Given the description of an element on the screen output the (x, y) to click on. 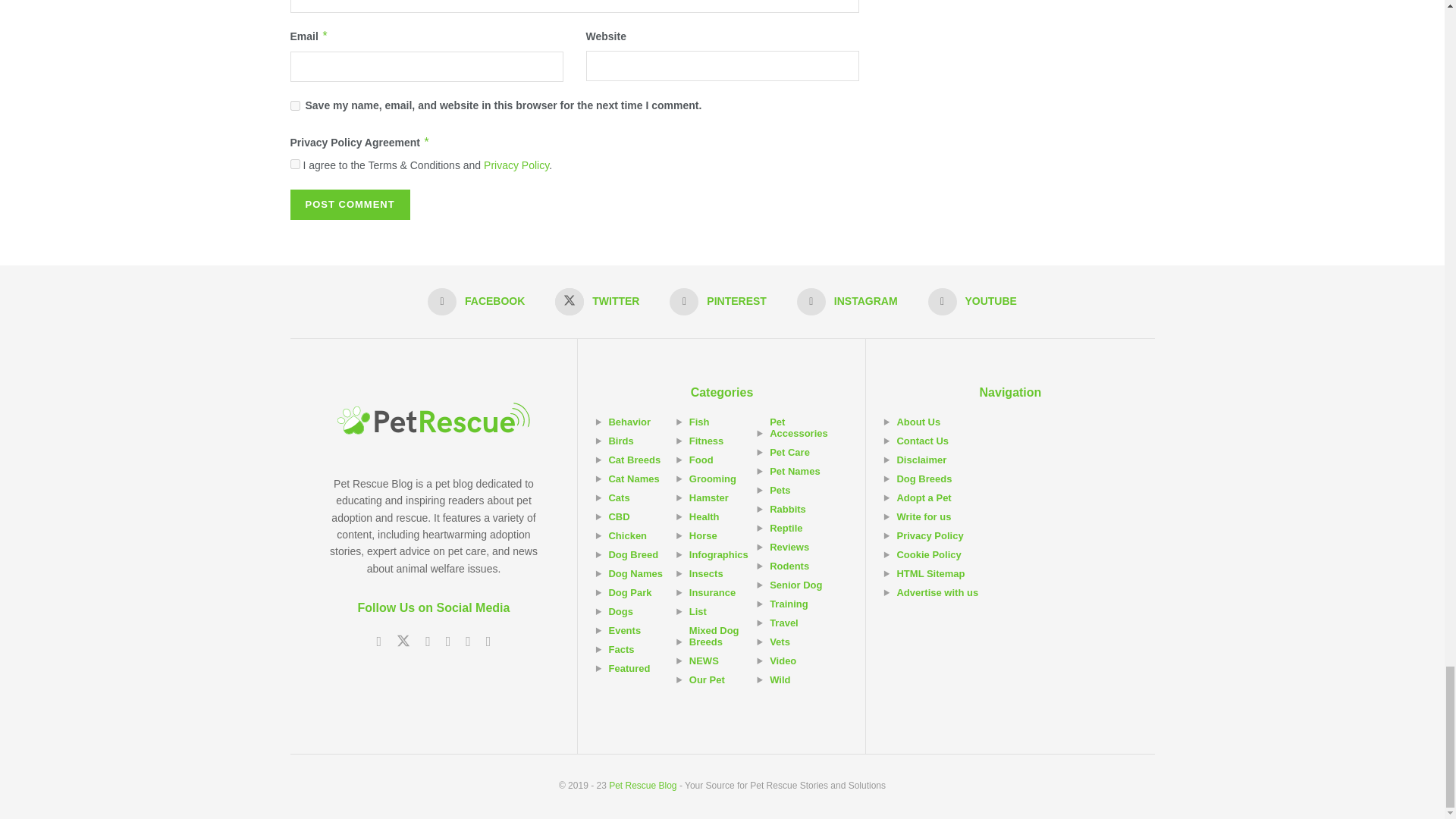
yes (294, 105)
Post Comment (349, 204)
on (294, 163)
